Given the description of an element on the screen output the (x, y) to click on. 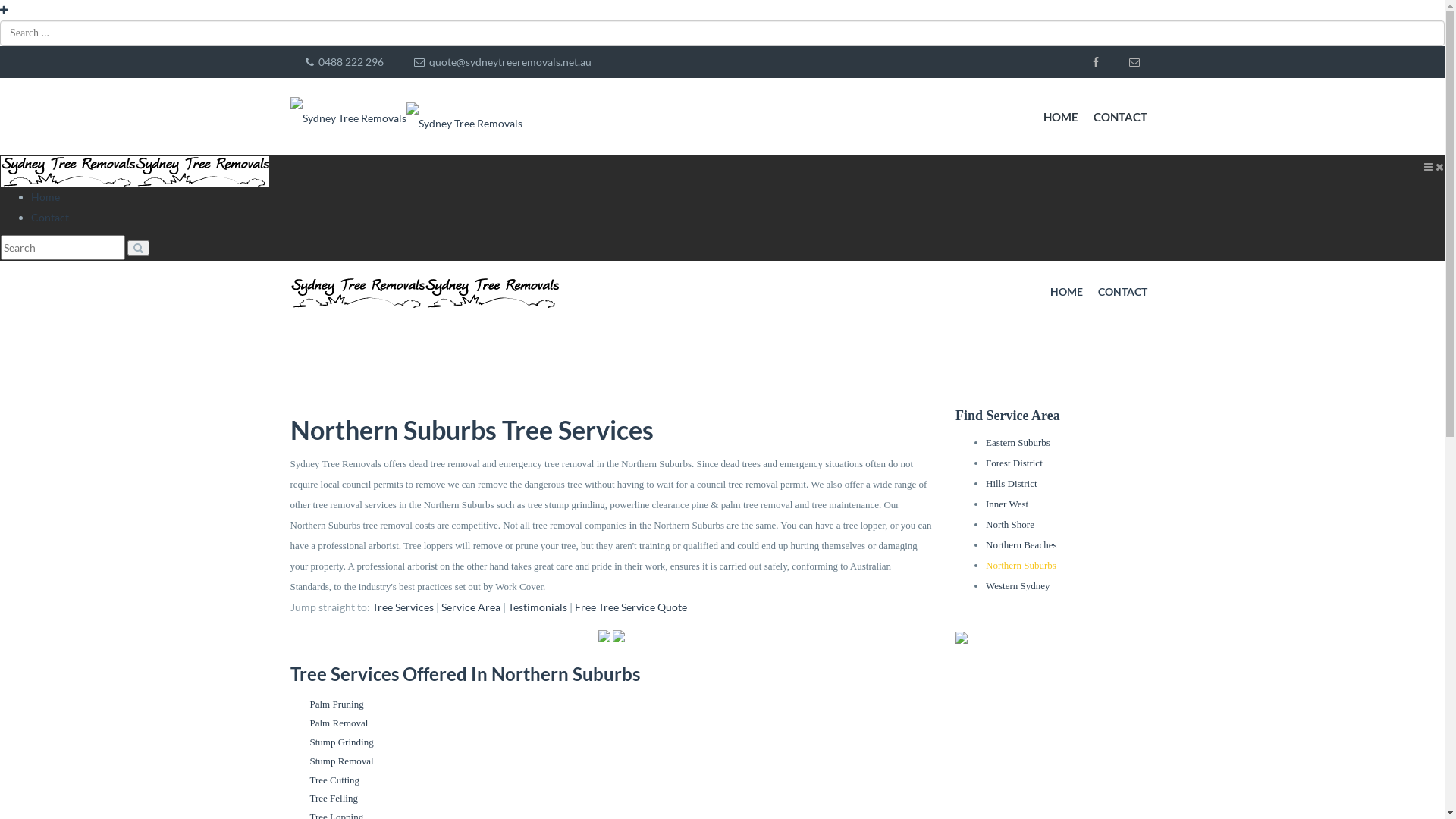
Tree Felling Element type: text (333, 797)
Forest District Element type: text (1013, 462)
Northern Suburbs Element type: text (1020, 565)
Western Sydney Element type: text (1017, 585)
Home Element type: text (45, 196)
Northern Beaches Element type: text (1021, 544)
Palm Removal Element type: text (338, 722)
Tree Services Element type: text (402, 606)
  0488 222 296 Element type: text (343, 62)
Inner West Element type: text (1006, 503)
CONTACT Element type: text (1119, 116)
Free Tree Service Quote Element type: text (630, 606)
Hills District Element type: text (1011, 483)
Stump Grinding Element type: text (341, 741)
CONTACT Element type: text (1122, 291)
Contact Element type: text (50, 216)
HOME Element type: text (1060, 116)
Testimonials Element type: text (537, 606)
Stump Removal Element type: text (341, 760)
Eastern Suburbs Element type: text (1017, 442)
Service Area Element type: text (470, 606)
Palm Pruning Element type: text (336, 703)
  quote@sydneytreeremovals.net.au Element type: text (502, 62)
North Shore Element type: text (1009, 524)
HOME Element type: text (1065, 291)
Tree Cutting Element type: text (334, 779)
